Given the description of an element on the screen output the (x, y) to click on. 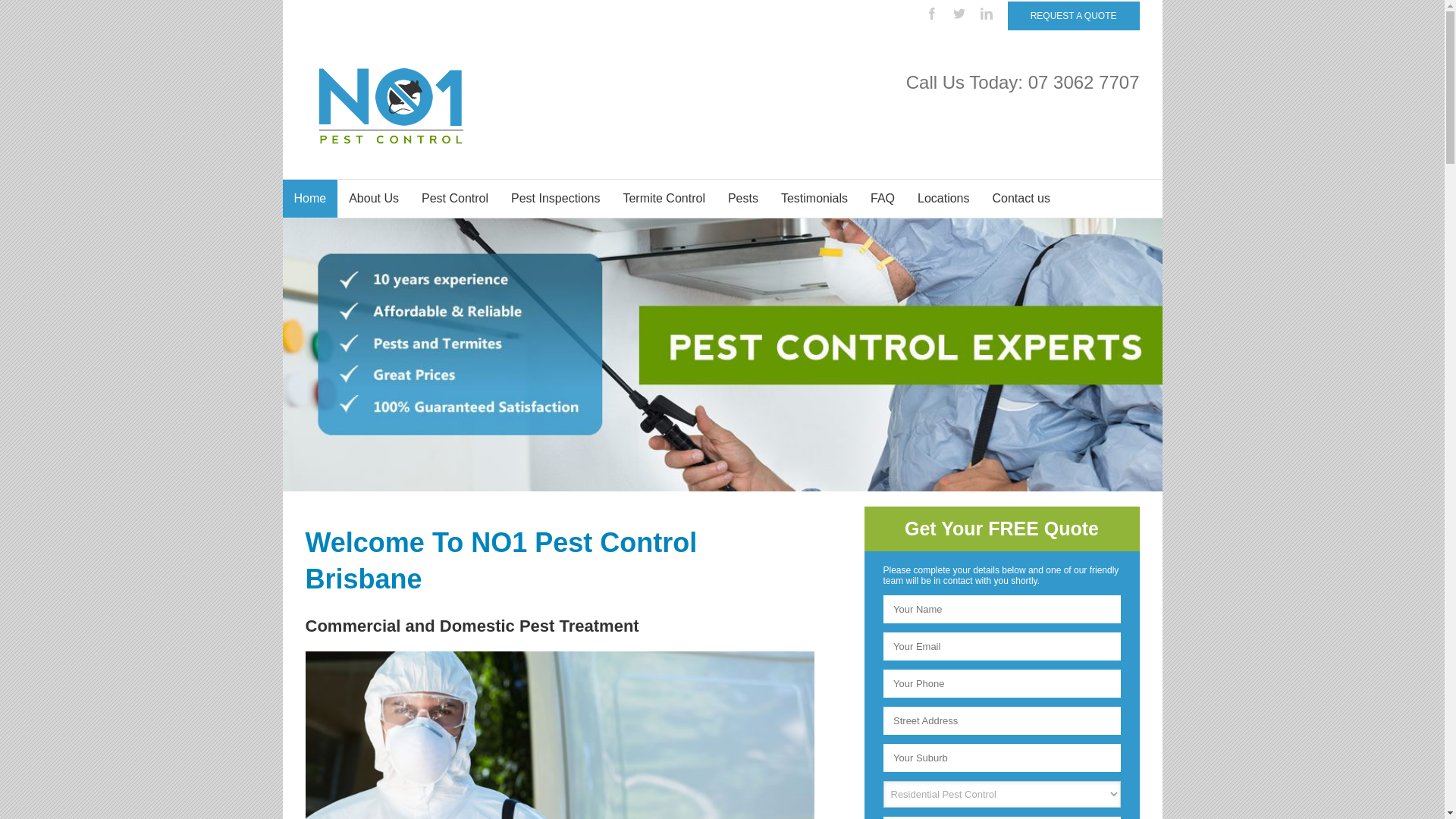
About Us Element type: text (373, 198)
Locations Element type: text (943, 198)
Twitter Element type: hover (959, 13)
Home Element type: text (309, 198)
Testimonials Element type: text (814, 198)
Termite Control Element type: text (663, 198)
Facebook Element type: hover (931, 13)
REQUEST A QUOTE Element type: text (1073, 15)
Pest Inspections Element type: text (555, 198)
Contact us Element type: text (1021, 198)
Linkedin Element type: hover (986, 13)
Pests Element type: text (742, 198)
FAQ Element type: text (882, 198)
Pest Control Element type: text (454, 198)
